Given the description of an element on the screen output the (x, y) to click on. 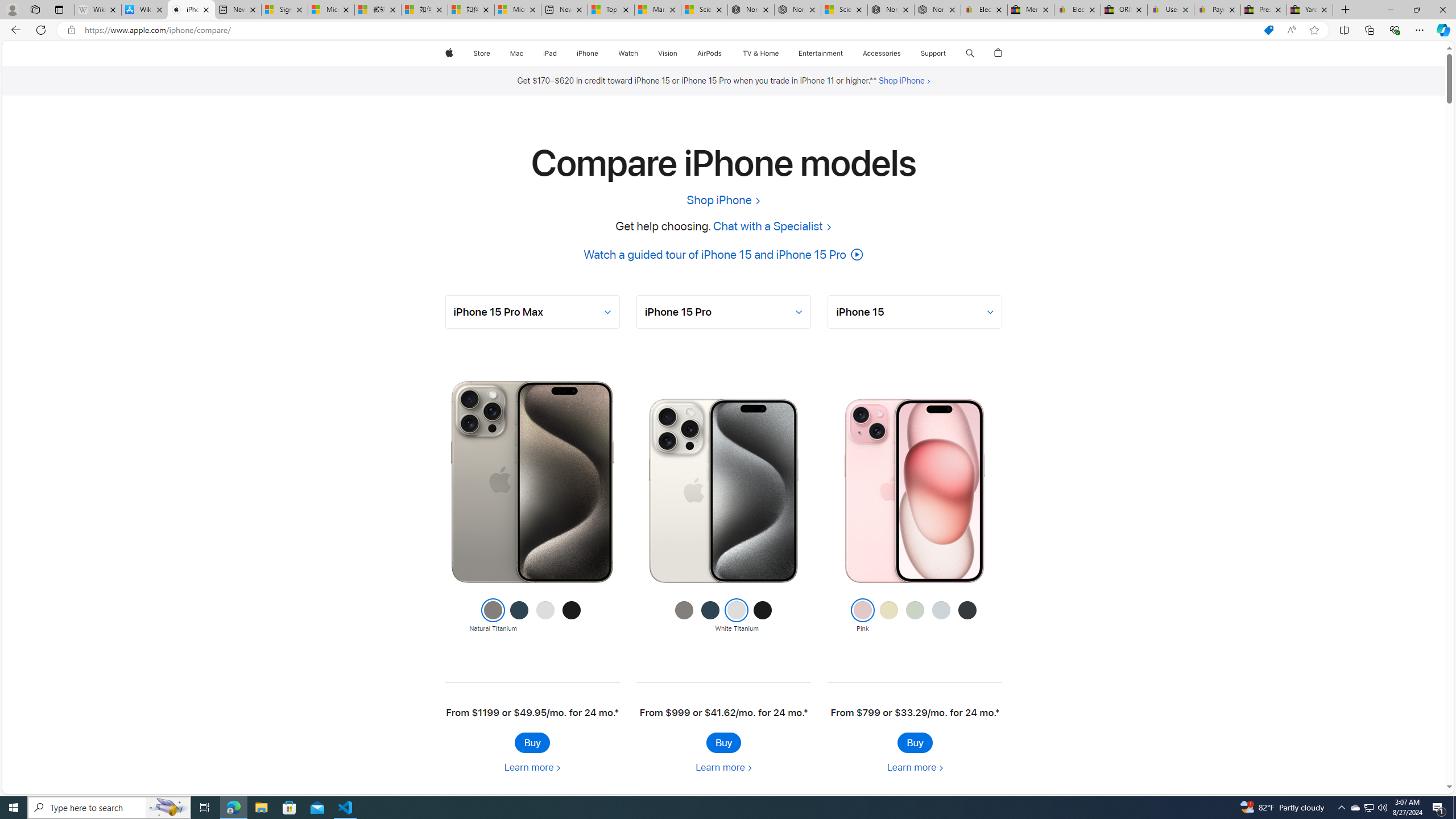
Store (481, 53)
AutomationID: selector-0 (531, 311)
Mac (516, 53)
Vision (667, 53)
iPhone menu (600, 53)
iPhone (587, 53)
iPhone - Compare Models - Apple (191, 9)
Nordace - FAQ (937, 9)
